Given the description of an element on the screen output the (x, y) to click on. 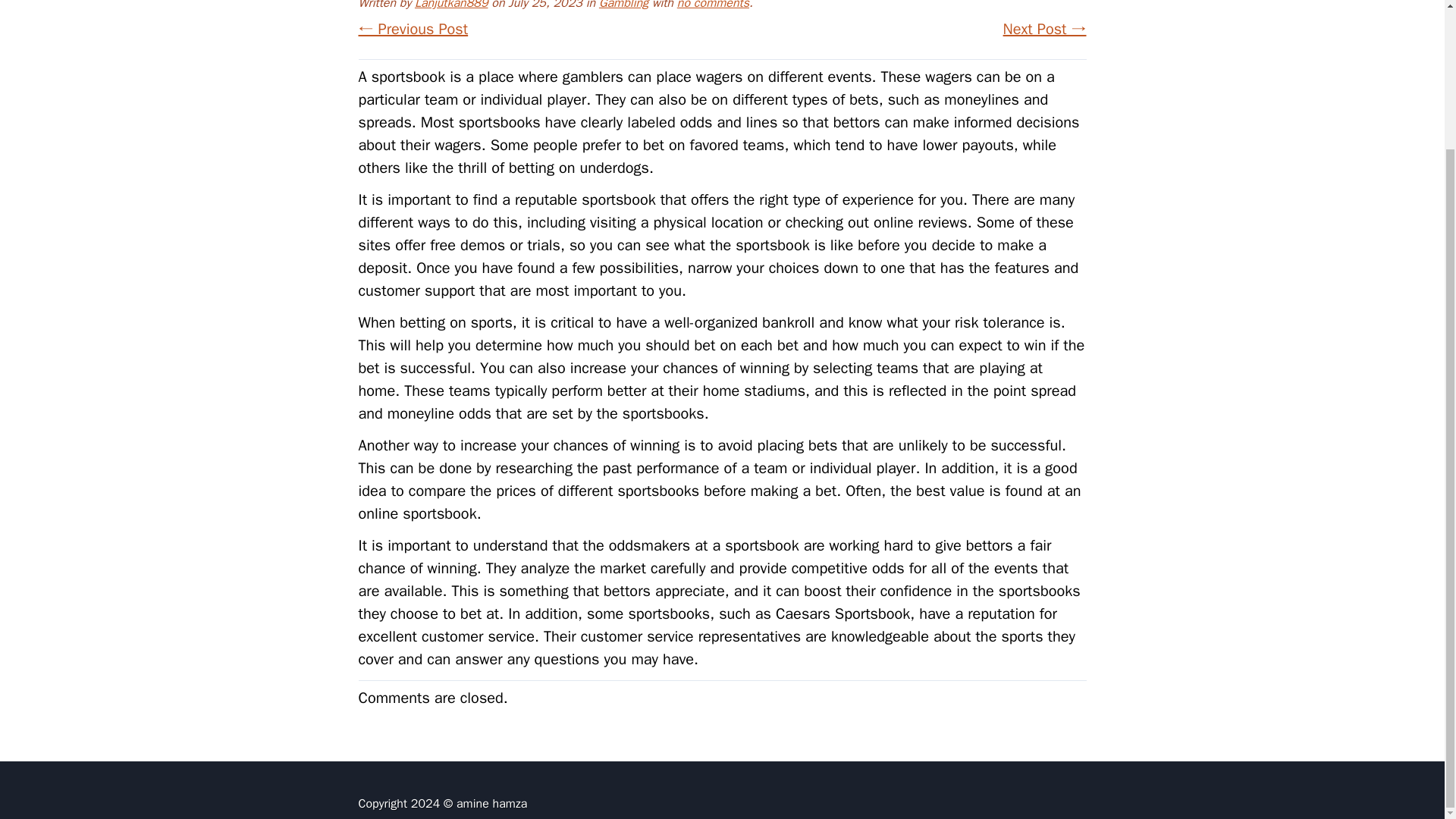
no comments (713, 5)
Lanjutkan889 (450, 5)
Gambling (622, 5)
no comments (713, 5)
